Given the description of an element on the screen output the (x, y) to click on. 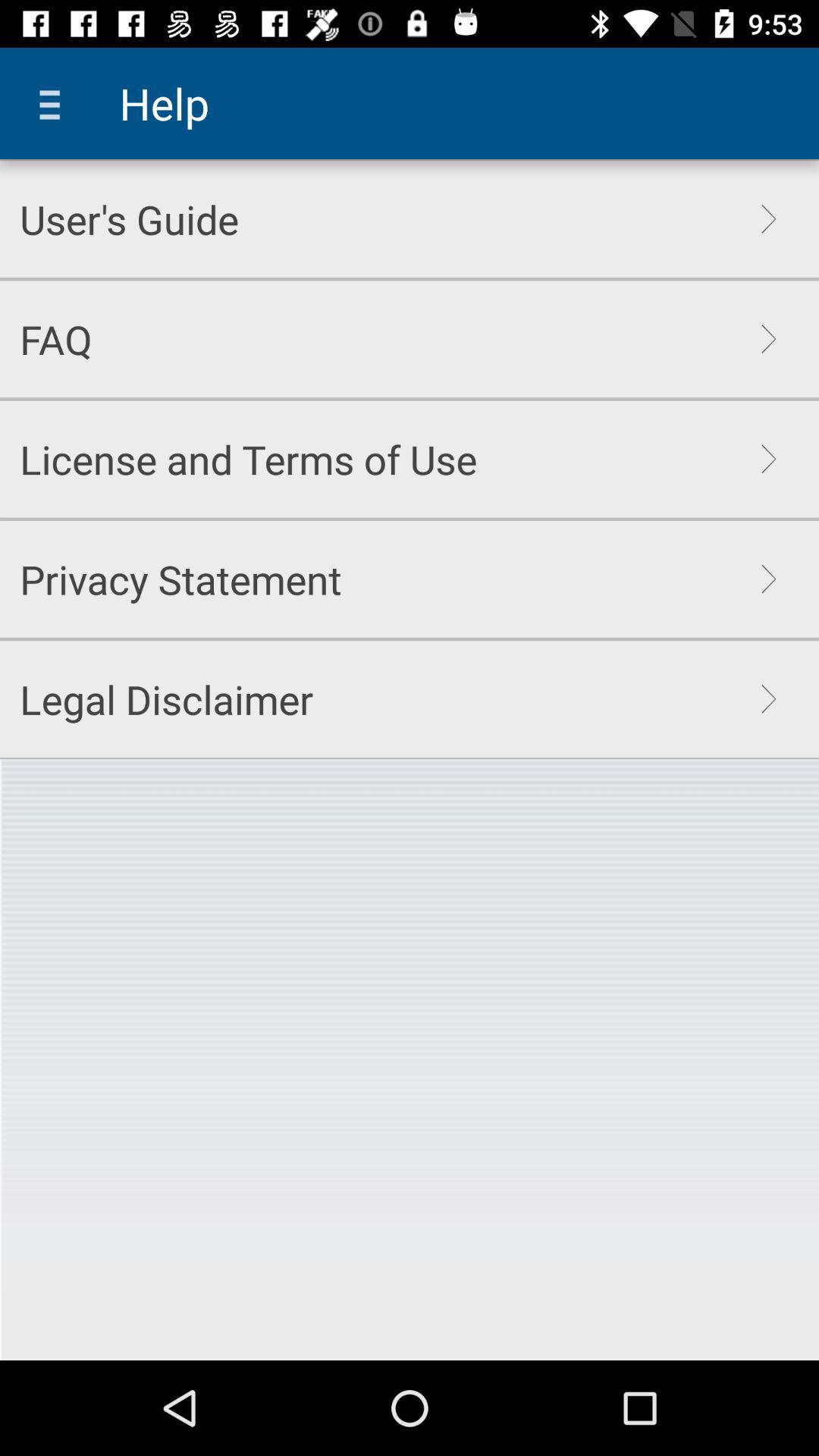
tap the item above privacy statement item (248, 458)
